Given the description of an element on the screen output the (x, y) to click on. 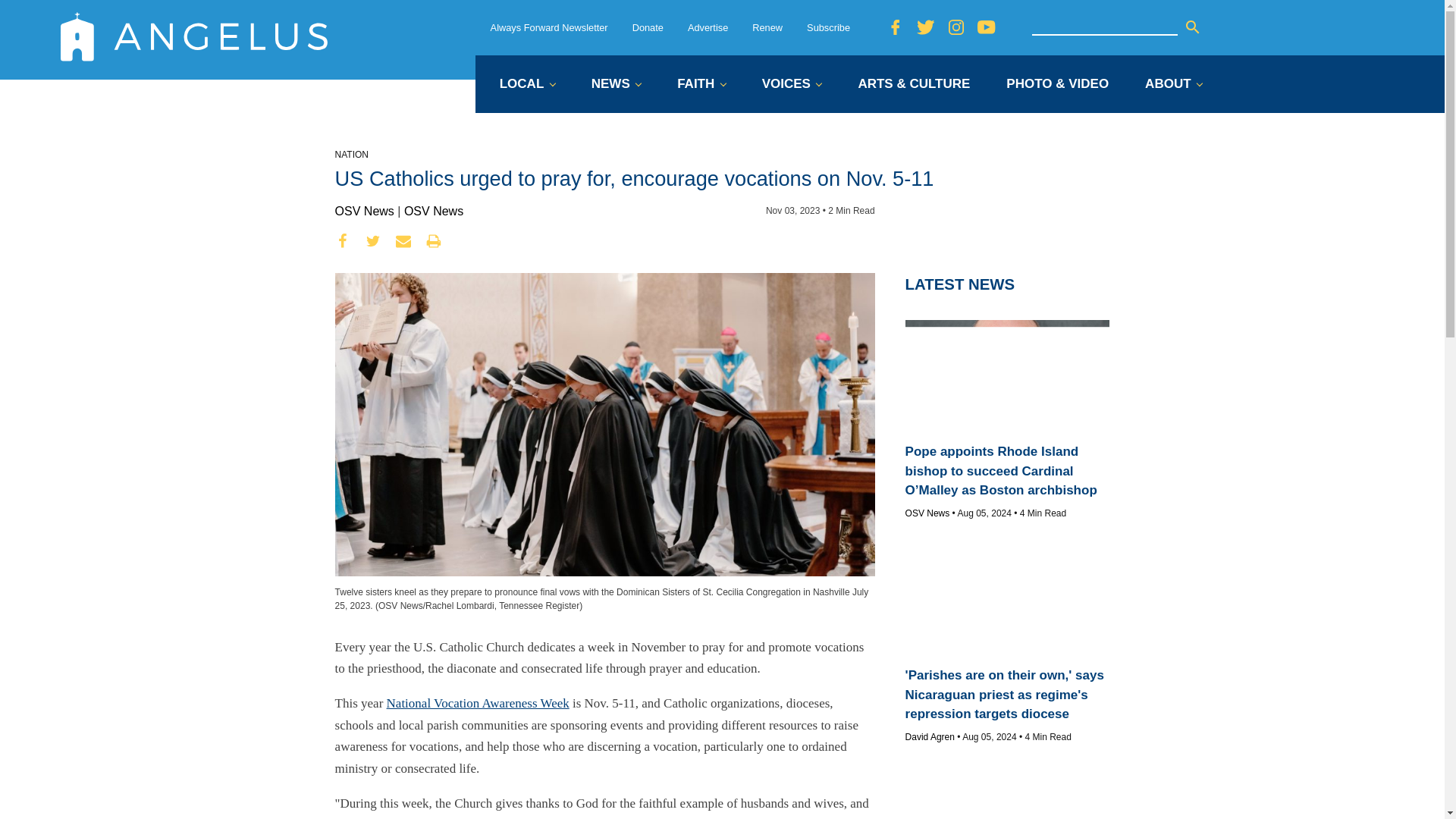
Donate (647, 27)
Search (1192, 27)
envelope (403, 240)
Posts by David Agren (930, 737)
ABOUT (1173, 84)
Renew (767, 27)
Subscribe (828, 27)
Always Forward Newsletter (549, 27)
facebook (342, 240)
FAITH (701, 84)
print (433, 240)
Advertise (707, 27)
NEWS (615, 84)
Posts by OSV News (927, 512)
Posts by OSV News (364, 210)
